Given the description of an element on the screen output the (x, y) to click on. 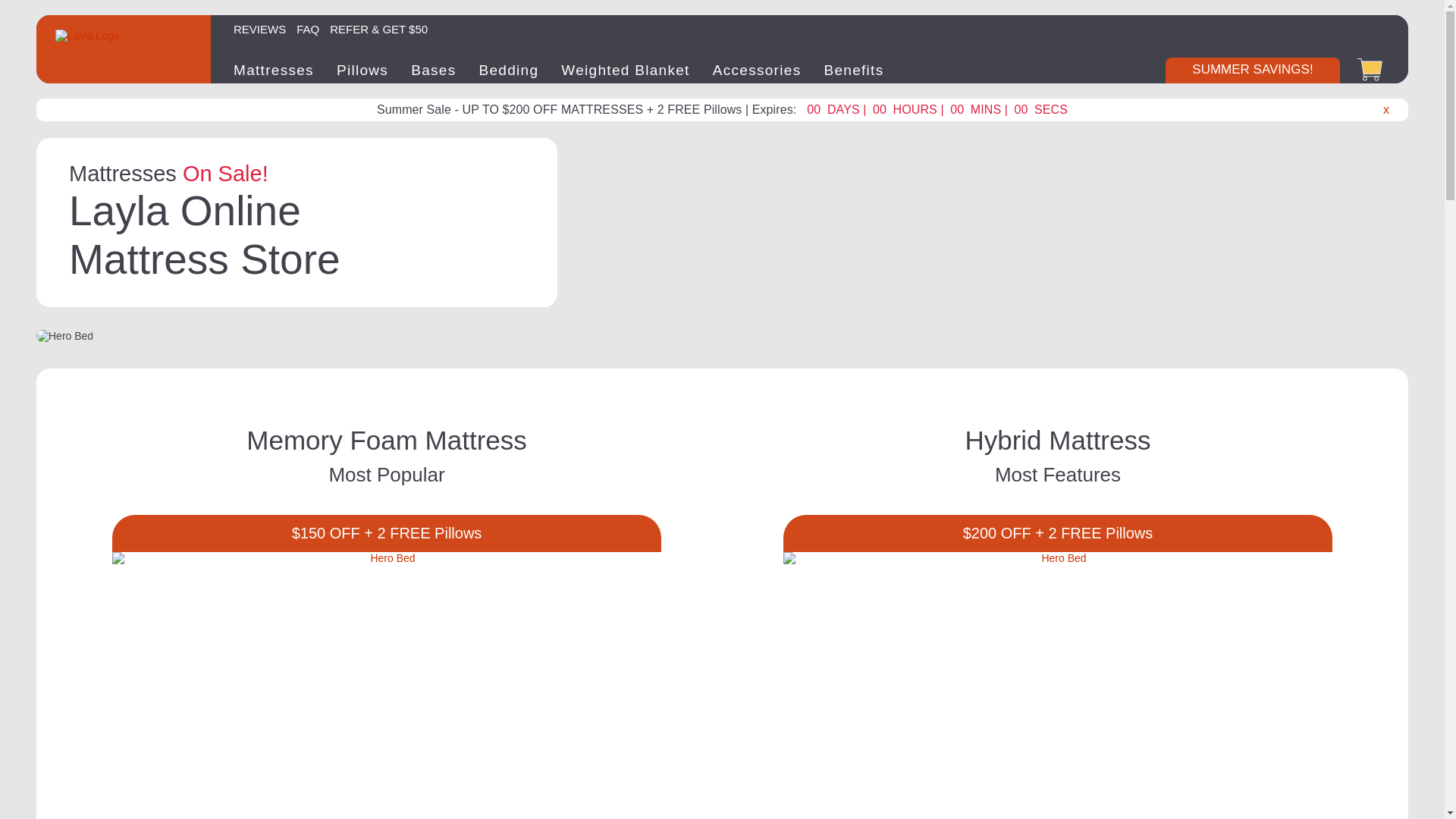
FAQ (307, 27)
Accessories (757, 70)
Pillows (362, 70)
Bedding (508, 70)
REVIEWS (258, 27)
Mattresses (273, 70)
Bases (432, 70)
Benefits (853, 70)
Weighted Blanket (624, 70)
